Given the description of an element on the screen output the (x, y) to click on. 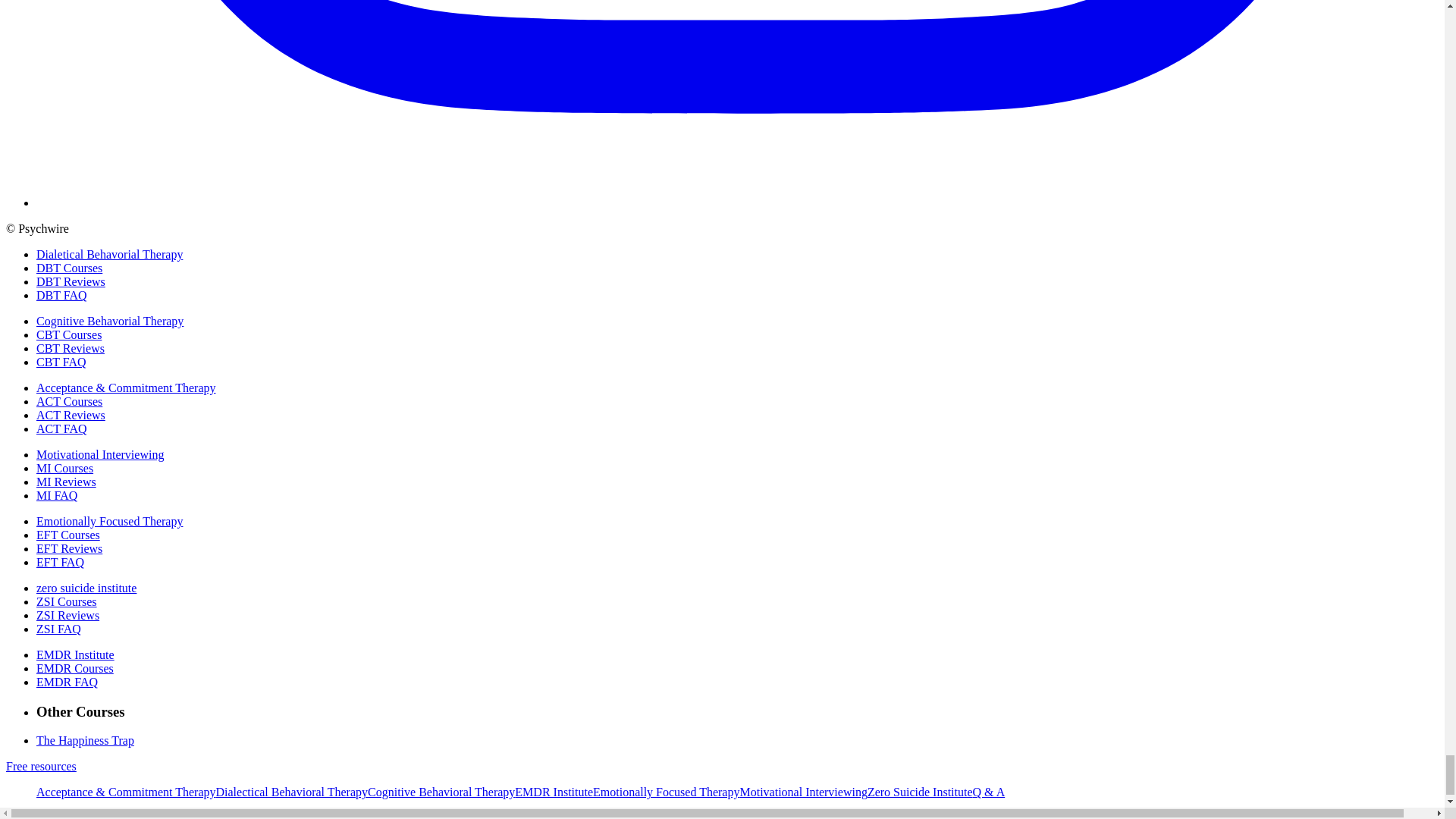
ACT Courses (68, 400)
CBT Reviews (70, 348)
DBT Reviews (70, 281)
CBT FAQ (60, 361)
ACT Reviews (70, 414)
Cognitive Behavorial Therapy (109, 320)
Motivational Interviewing (99, 454)
DBT FAQ (61, 295)
ACT FAQ (61, 428)
DBT Courses (68, 267)
CBT Courses (68, 334)
Dialetical Behavorial Therapy (109, 254)
